Given the description of an element on the screen output the (x, y) to click on. 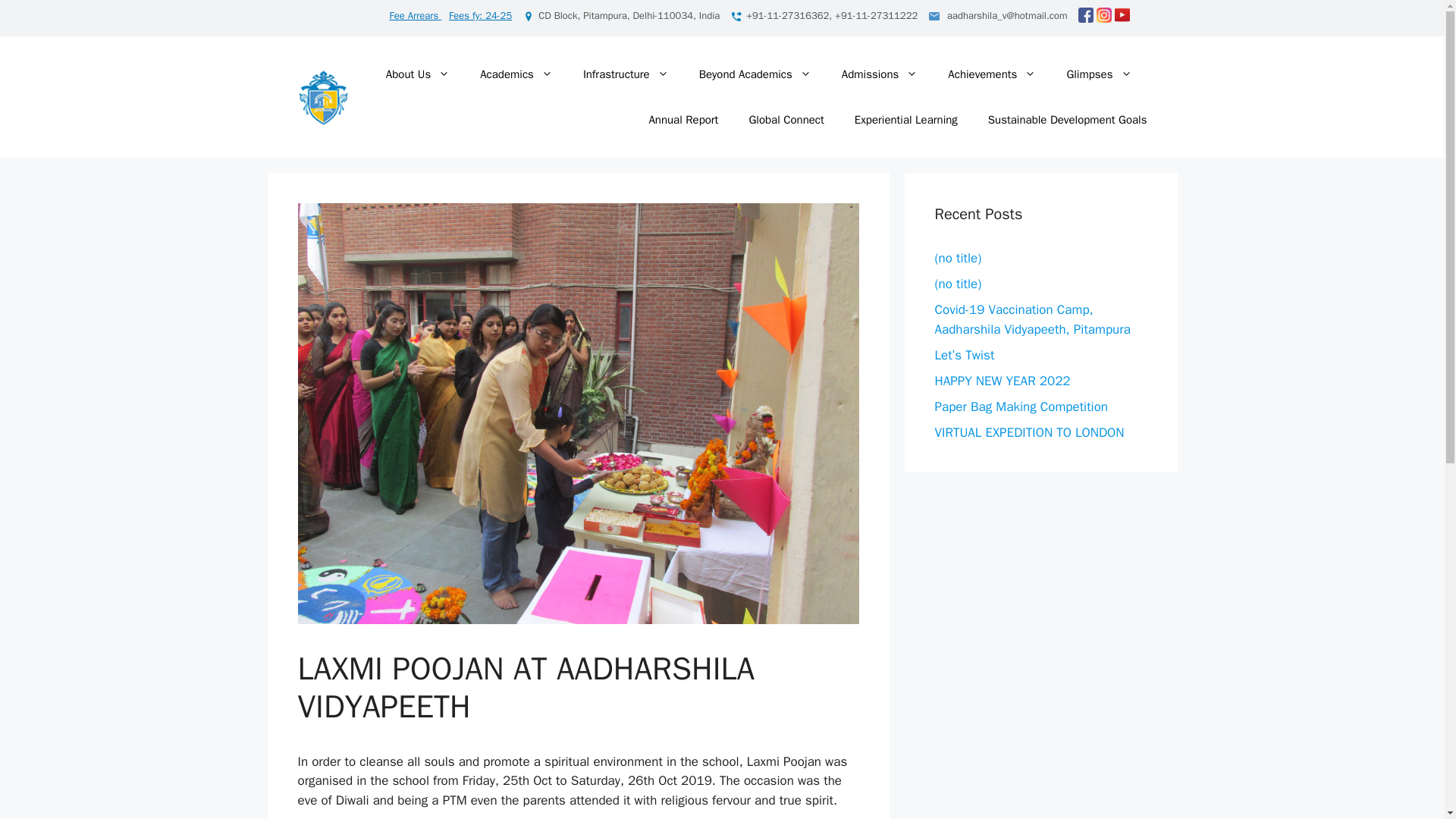
About Us (417, 74)
Aadharshila Vidyapeeth (323, 95)
Academics (515, 74)
Aadharshila Vidyapeeth (323, 96)
Fee Arrears (416, 15)
Fees fy: 24-25 (480, 15)
Infrastructure (625, 74)
